Given the description of an element on the screen output the (x, y) to click on. 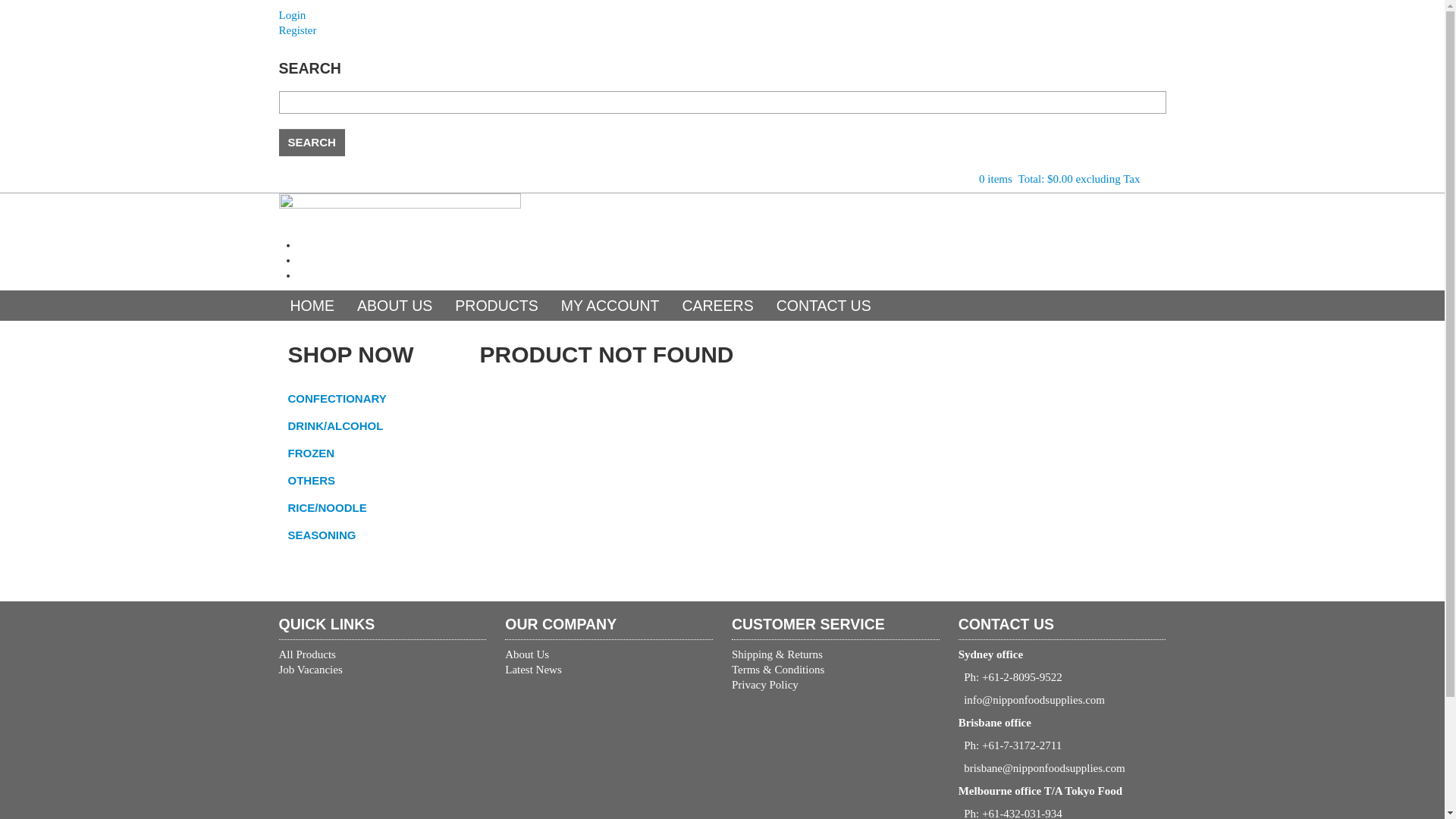
Login Element type: text (722, 14)
CAREERS Element type: text (717, 305)
CONTACT US Element type: text (823, 305)
RICE/NOODLE Element type: text (373, 507)
OTHERS Element type: text (373, 480)
SEASONING Element type: text (373, 535)
All Products Element type: text (382, 654)
FROZEN Element type: text (373, 453)
Total: $0.00 excluding Tax Element type: text (1079, 178)
MY ACCOUNT Element type: text (610, 305)
DRINK/ALCOHOL Element type: text (373, 425)
Privacy Policy Element type: text (835, 684)
Terms & Conditions Element type: text (835, 669)
  info@nipponfoodsupplies.com Element type: text (1031, 699)
HOME Element type: text (312, 305)
0 items Element type: text (995, 178)
PRODUCTS Element type: text (496, 305)
  brisbane@nipponfoodsupplies.com Element type: text (1041, 768)
Shipping & Returns Element type: text (835, 654)
Latest News Element type: text (608, 669)
Job Vacancies Element type: text (382, 669)
About Us Element type: text (608, 654)
ABOUT US Element type: text (394, 305)
CONFECTIONARY Element type: text (373, 398)
Search Element type: text (312, 142)
Register Element type: text (722, 29)
